Given the description of an element on the screen output the (x, y) to click on. 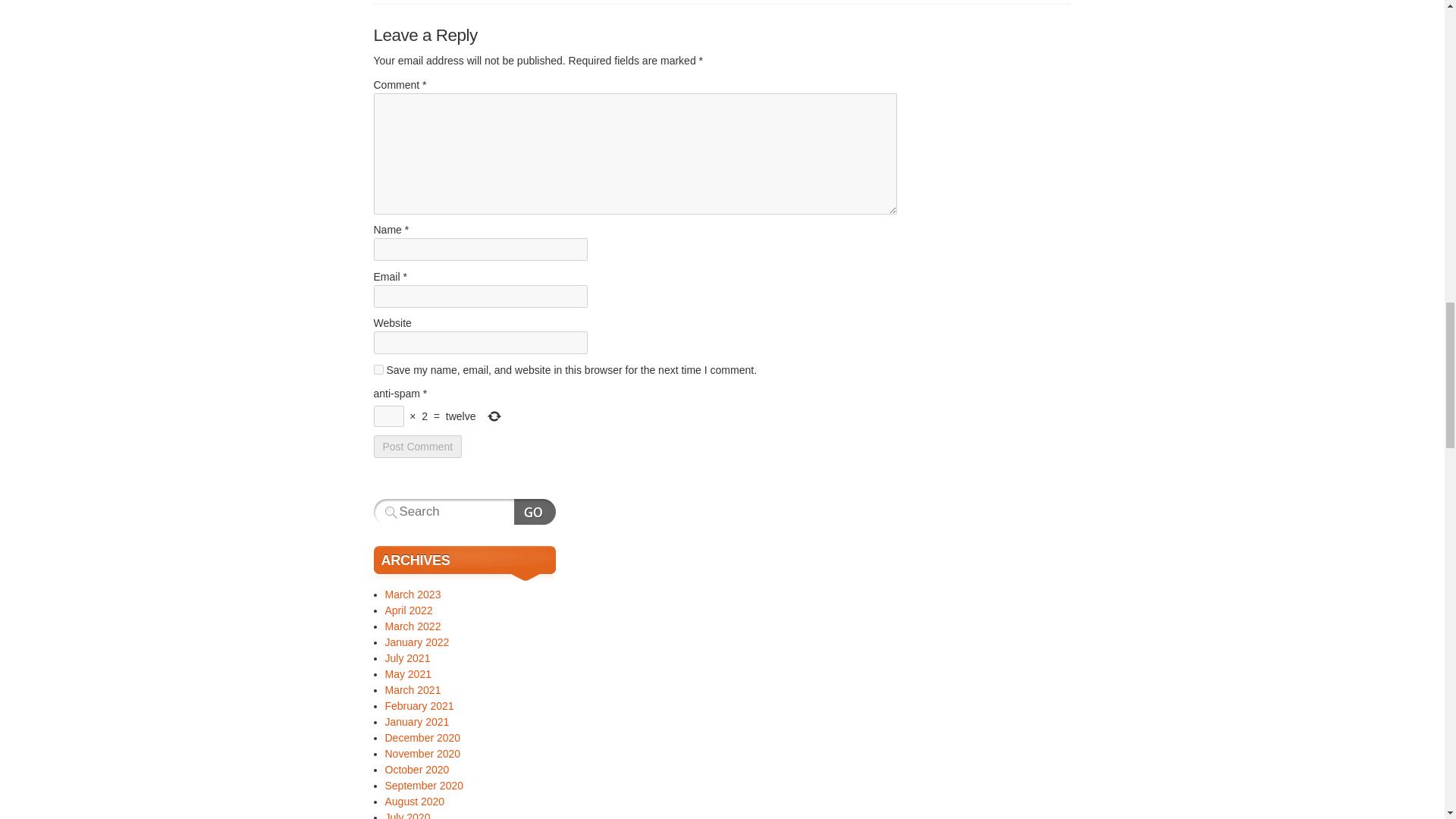
yes (377, 368)
Post Comment (416, 445)
